Given the description of an element on the screen output the (x, y) to click on. 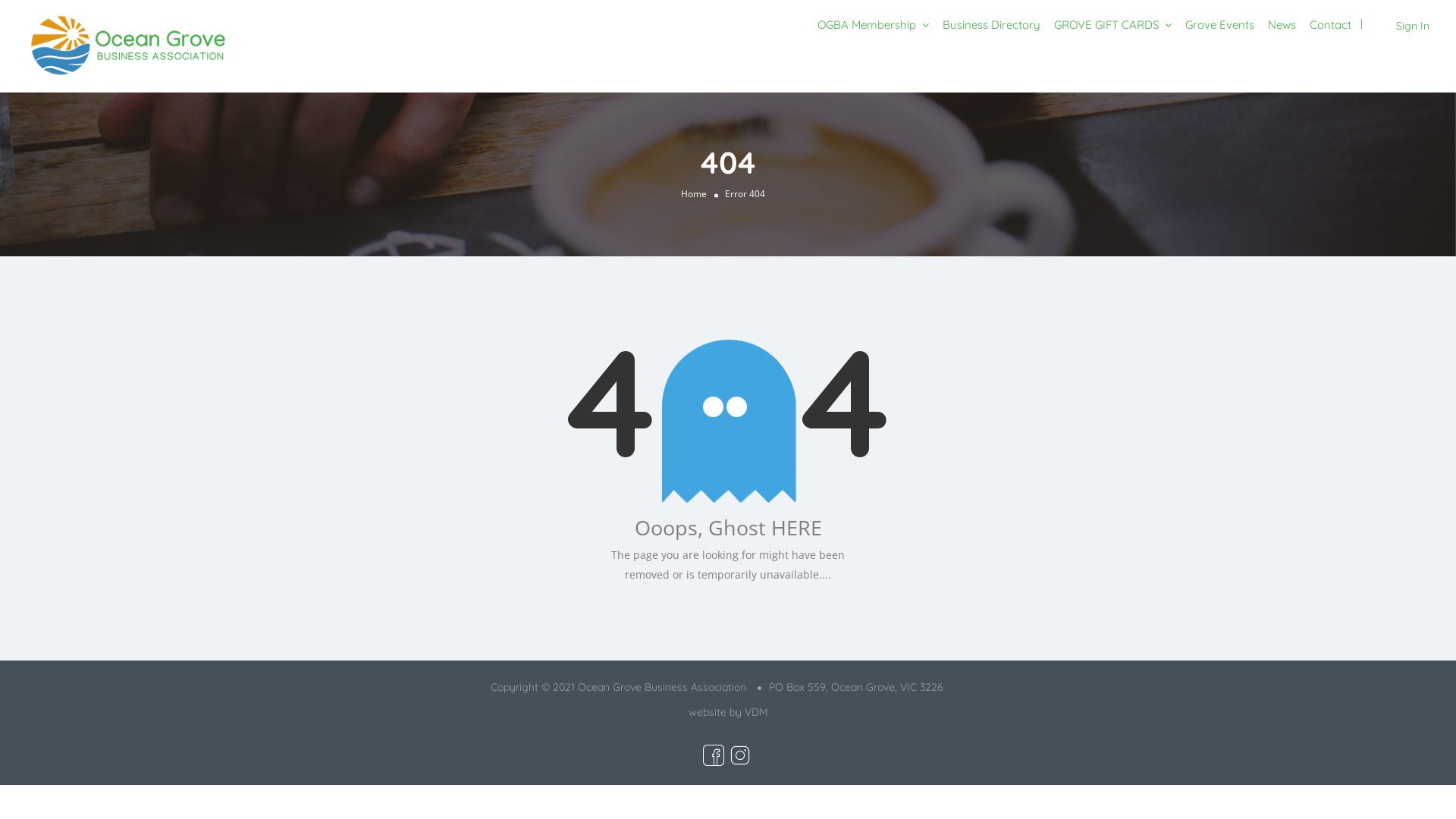
Business Directory Element type: text (991, 24)
GROVE GIFT CARDS Element type: text (1106, 24)
Sign In Element type: text (1412, 25)
OGBA Membership Element type: text (866, 24)
Home Element type: text (693, 193)
VDM Element type: text (756, 711)
Contact Element type: text (1330, 24)
Grove Events Element type: text (1219, 24)
News Element type: text (1281, 24)
